Given the description of an element on the screen output the (x, y) to click on. 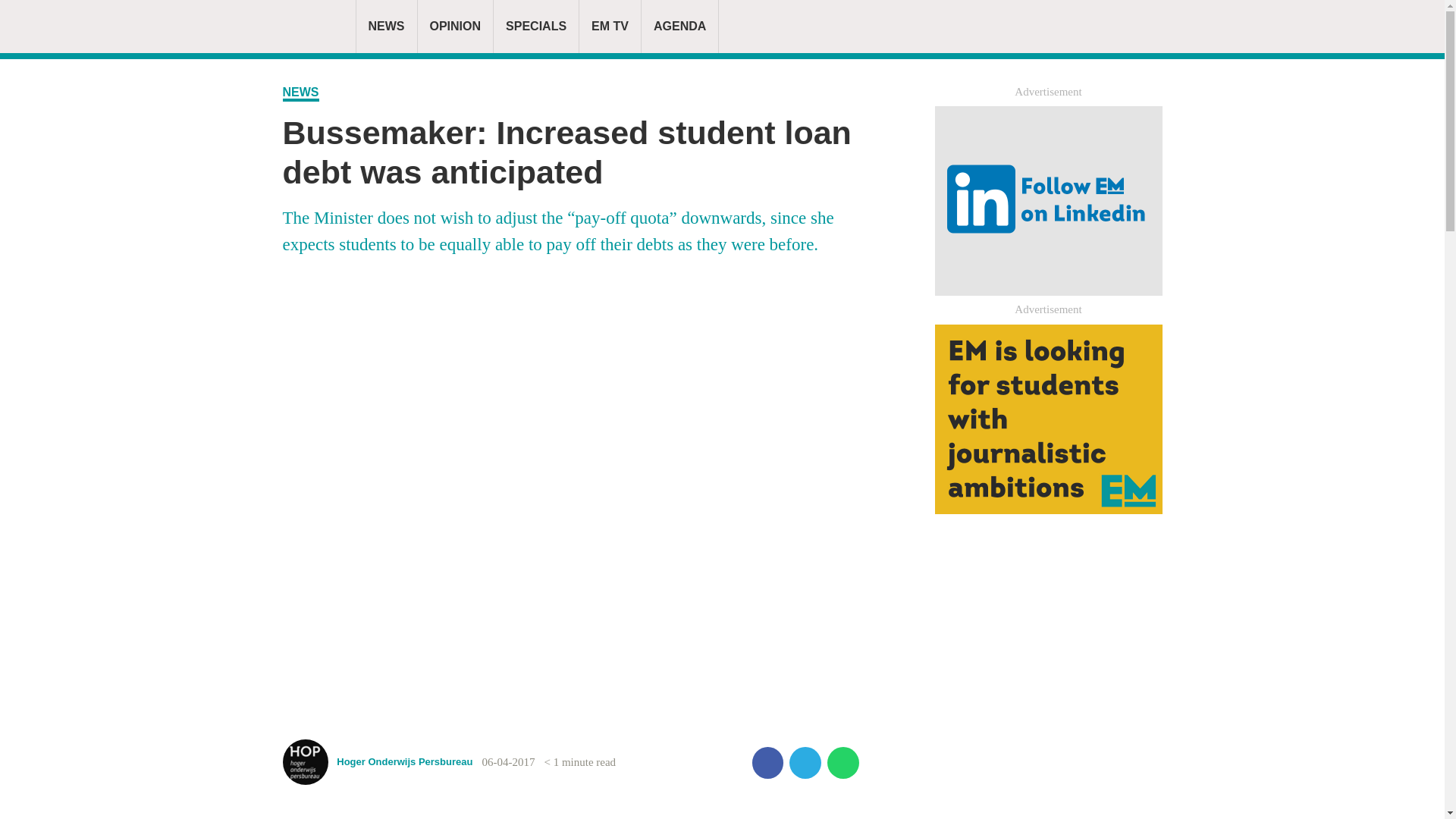
NEWS (386, 26)
Search (1088, 26)
Share via WhatsApp (843, 762)
Erasmus Magazine (312, 26)
Share via WhatsApp (843, 762)
AGENDA (679, 26)
EM TV (609, 26)
NEWS (300, 93)
Share (768, 762)
Share (768, 762)
Hoger Onderwijs Persbureau (376, 771)
Tweet (805, 762)
Tweet (805, 762)
SPECIALS (535, 26)
OPINION (454, 26)
